Given the description of an element on the screen output the (x, y) to click on. 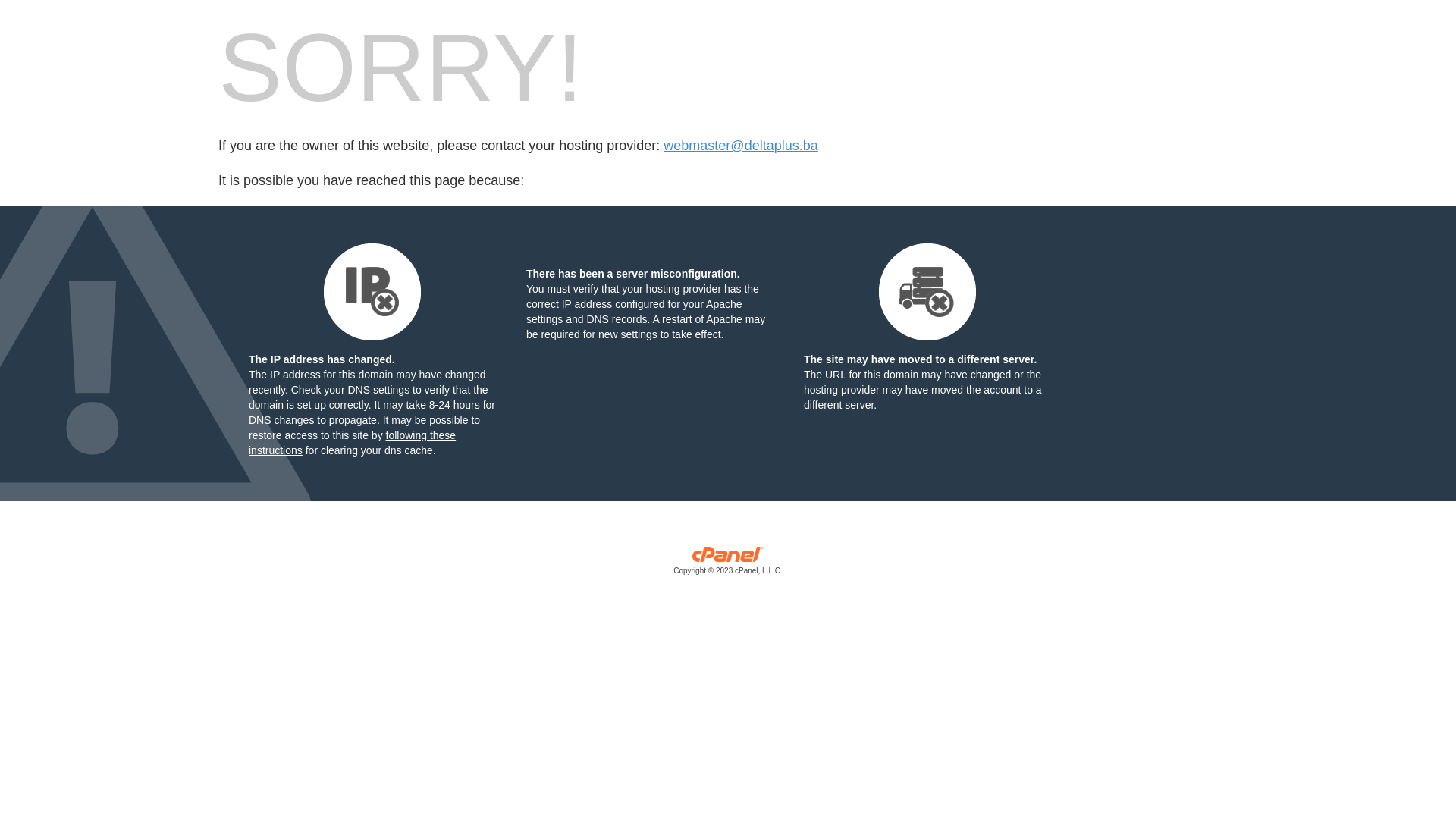
webmaster@deltaplus.ba Element type: text (740, 145)
following these instructions Element type: text (351, 442)
